Given the description of an element on the screen output the (x, y) to click on. 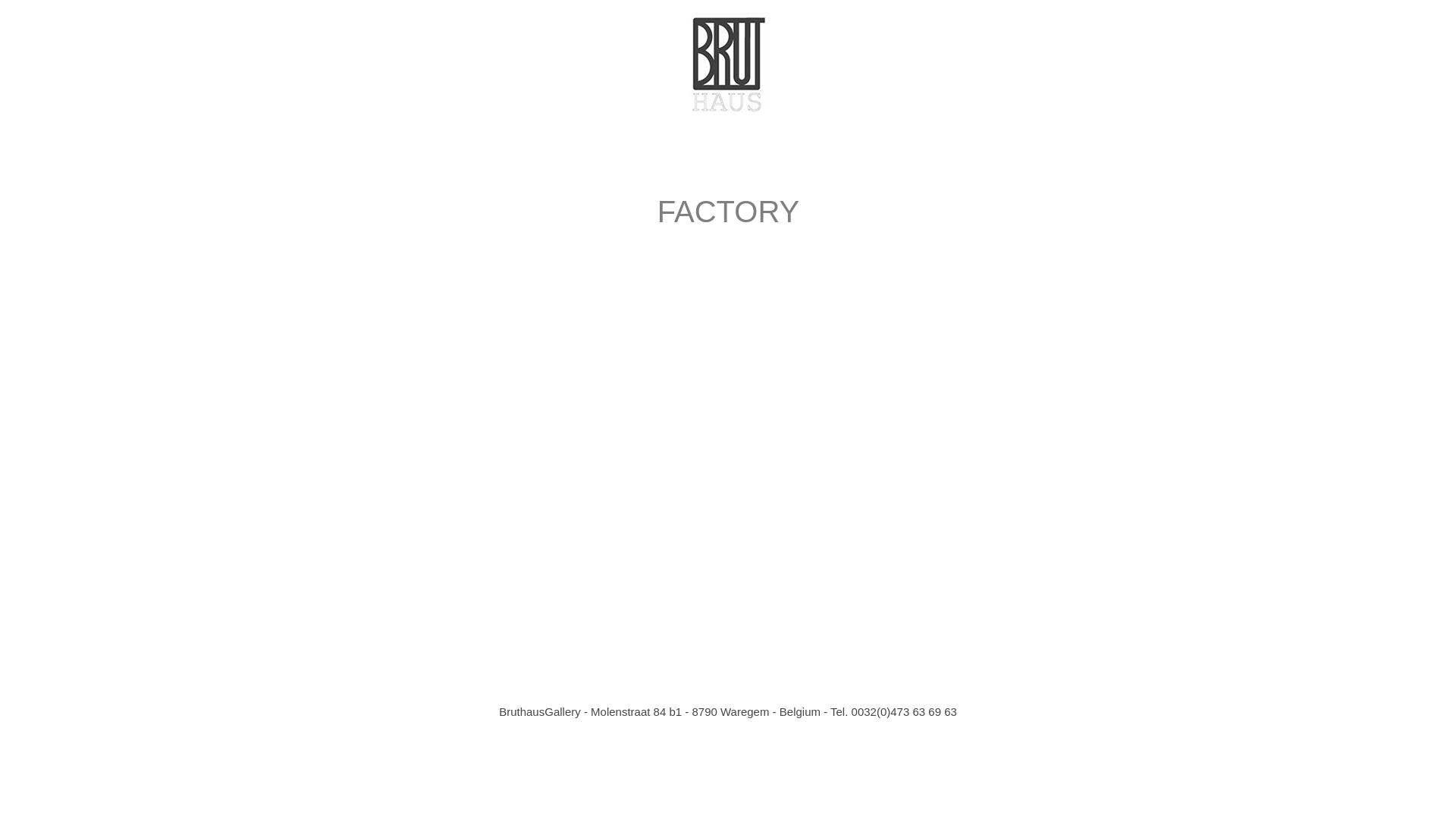
Bruthaus logo Element type: hover (728, 63)
